Given the description of an element on the screen output the (x, y) to click on. 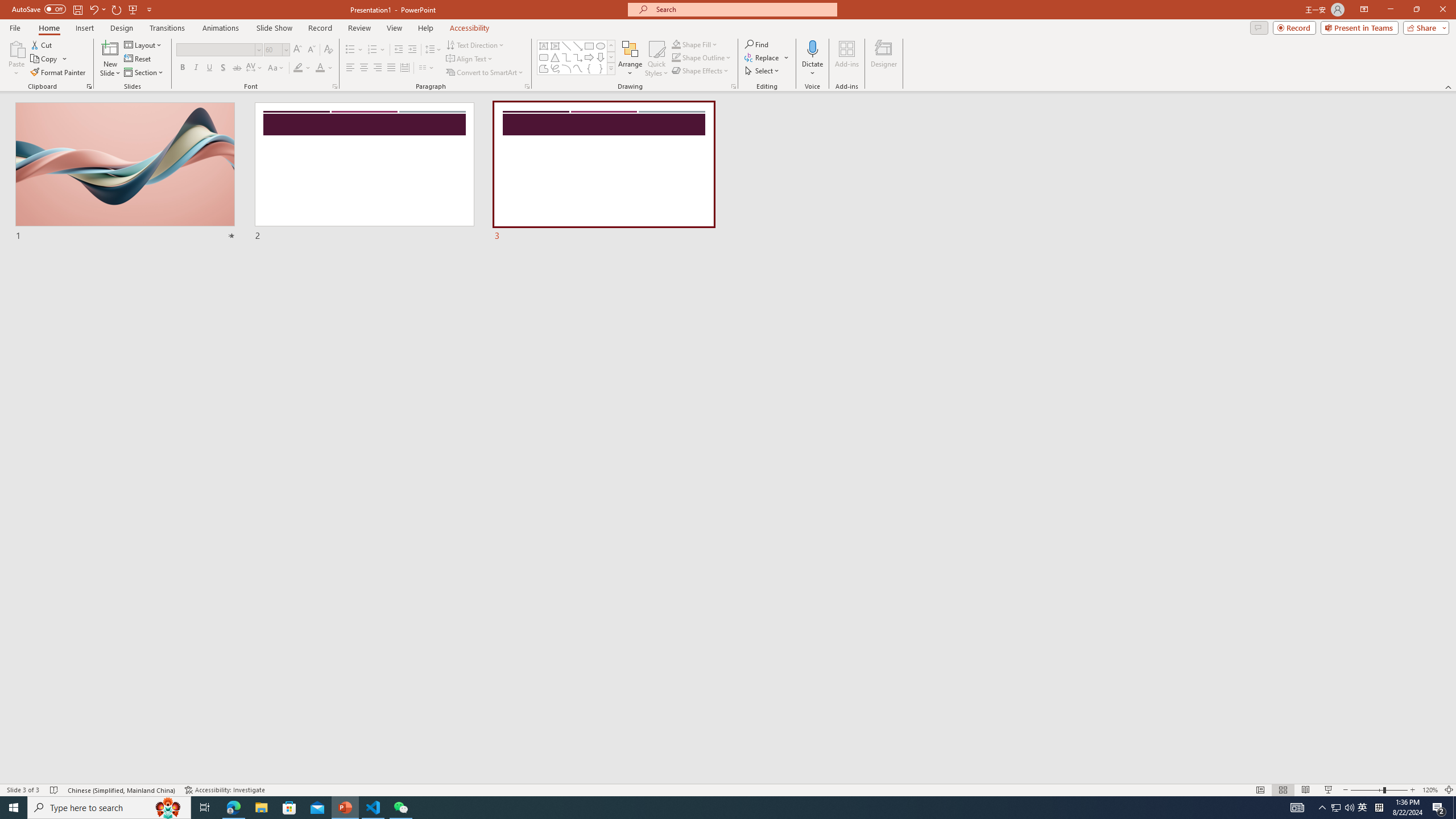
Shape Effects (700, 69)
